Given the description of an element on the screen output the (x, y) to click on. 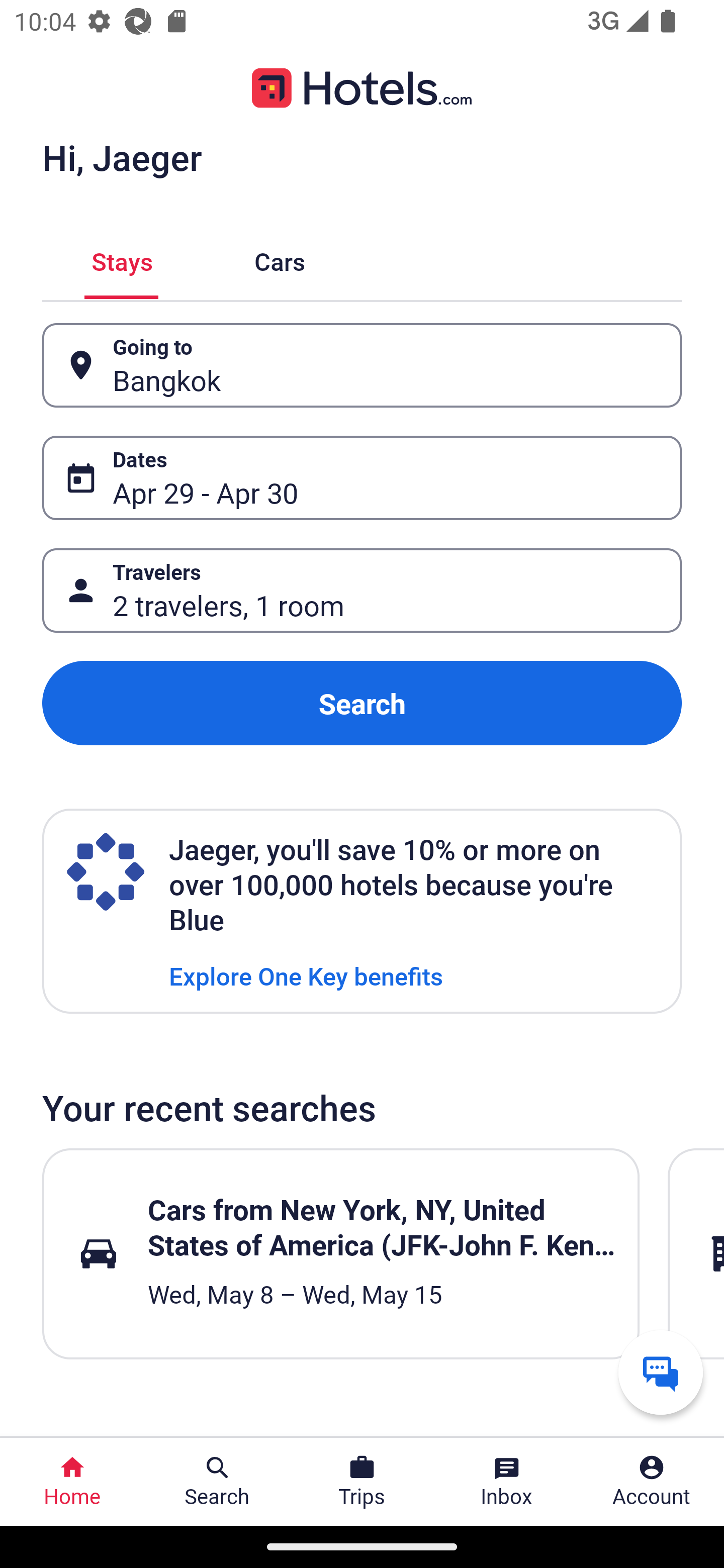
Hi, Jaeger (121, 156)
Cars (279, 259)
Going to Button Bangkok (361, 365)
Dates Button Apr 29 - Apr 30 (361, 477)
Travelers Button 2 travelers, 1 room (361, 590)
Search (361, 702)
Get help from a virtual agent (660, 1371)
Search Search Button (216, 1481)
Trips Trips Button (361, 1481)
Inbox Inbox Button (506, 1481)
Account Profile. Button (651, 1481)
